Given the description of an element on the screen output the (x, y) to click on. 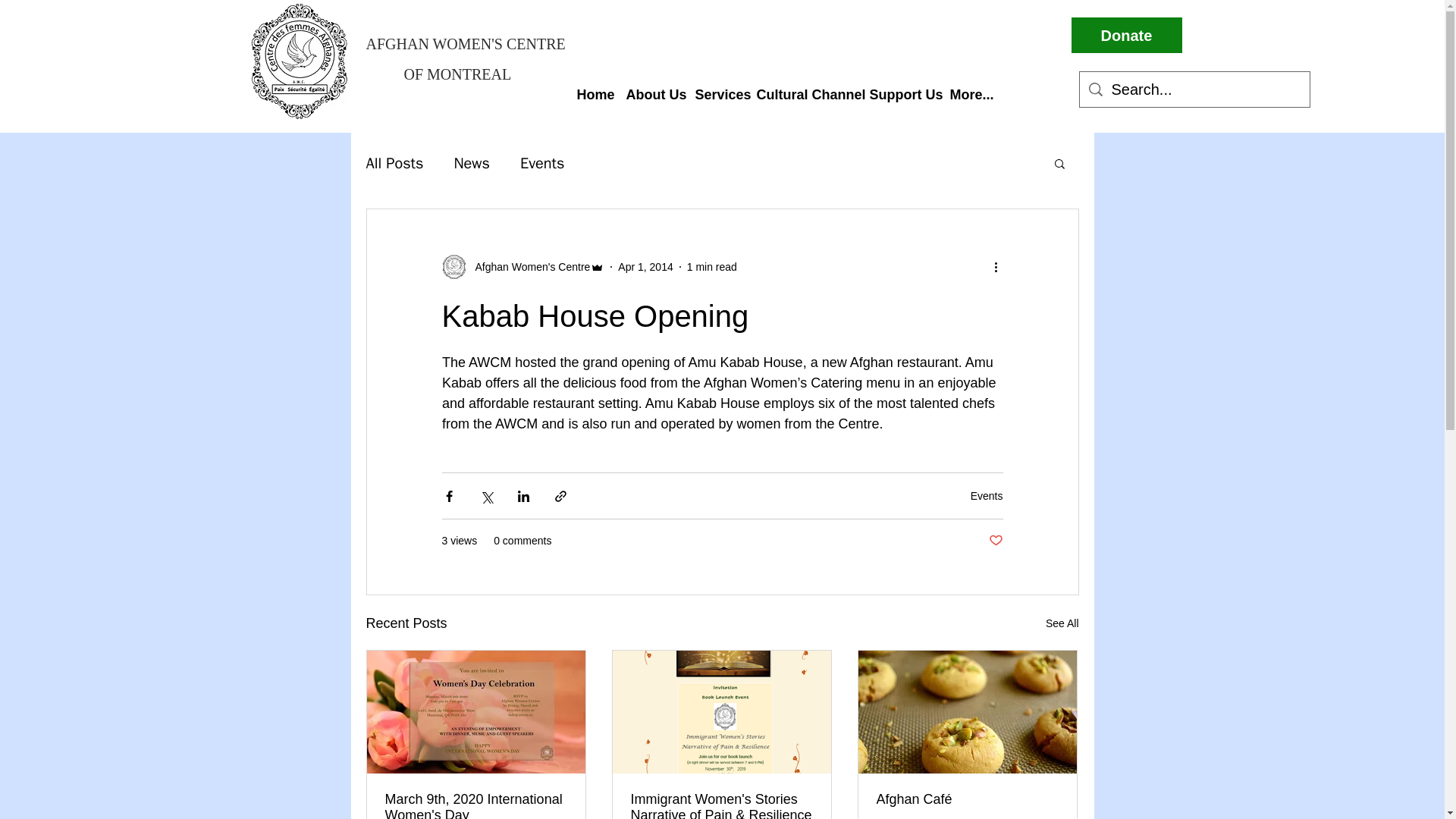
Events (541, 163)
Donate (1125, 35)
March 9th, 2020 International Women's Day (476, 805)
Apr 1, 2014 (644, 266)
Post not marked as liked (995, 540)
AFGHAN WOMEN'S CENTRE (488, 43)
All Posts (394, 163)
Afghan Women's Centre (522, 266)
Home (595, 87)
Events (987, 495)
1 min read (711, 266)
Afghan Women's Centre (527, 267)
See All (1061, 623)
Support Us (903, 87)
Cultural Channel (807, 87)
